Given the description of an element on the screen output the (x, y) to click on. 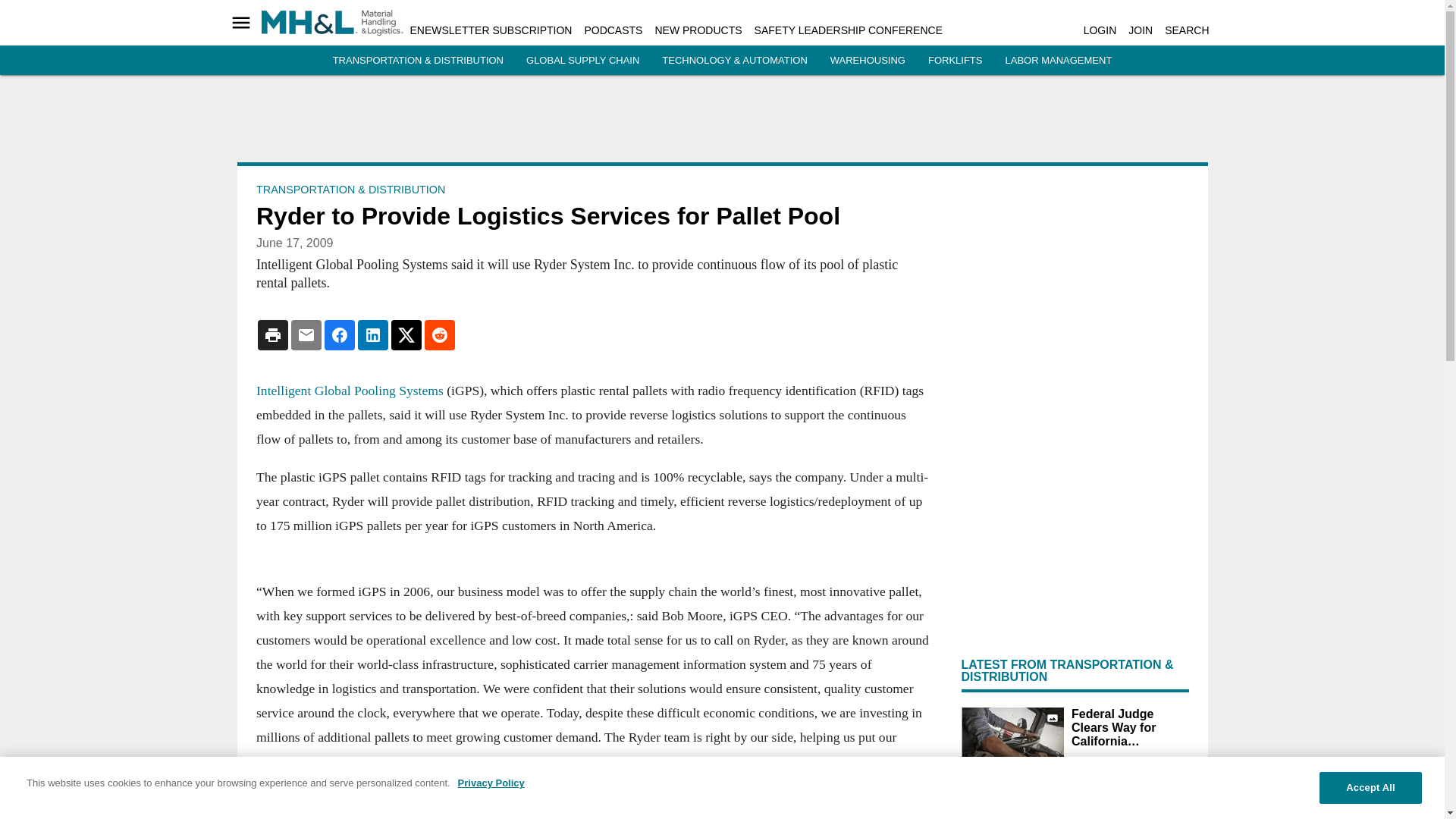
FORKLIFTS (955, 60)
LOGIN (1099, 30)
WAREHOUSING (867, 60)
NEW PRODUCTS (697, 30)
LABOR MANAGEMENT (1058, 60)
PODCASTS (612, 30)
JOIN (1140, 30)
GLOBAL SUPPLY CHAIN (582, 60)
SAFETY LEADERSHIP CONFERENCE (848, 30)
ENEWSLETTER SUBSCRIPTION (490, 30)
SEARCH (1186, 30)
